Given the description of an element on the screen output the (x, y) to click on. 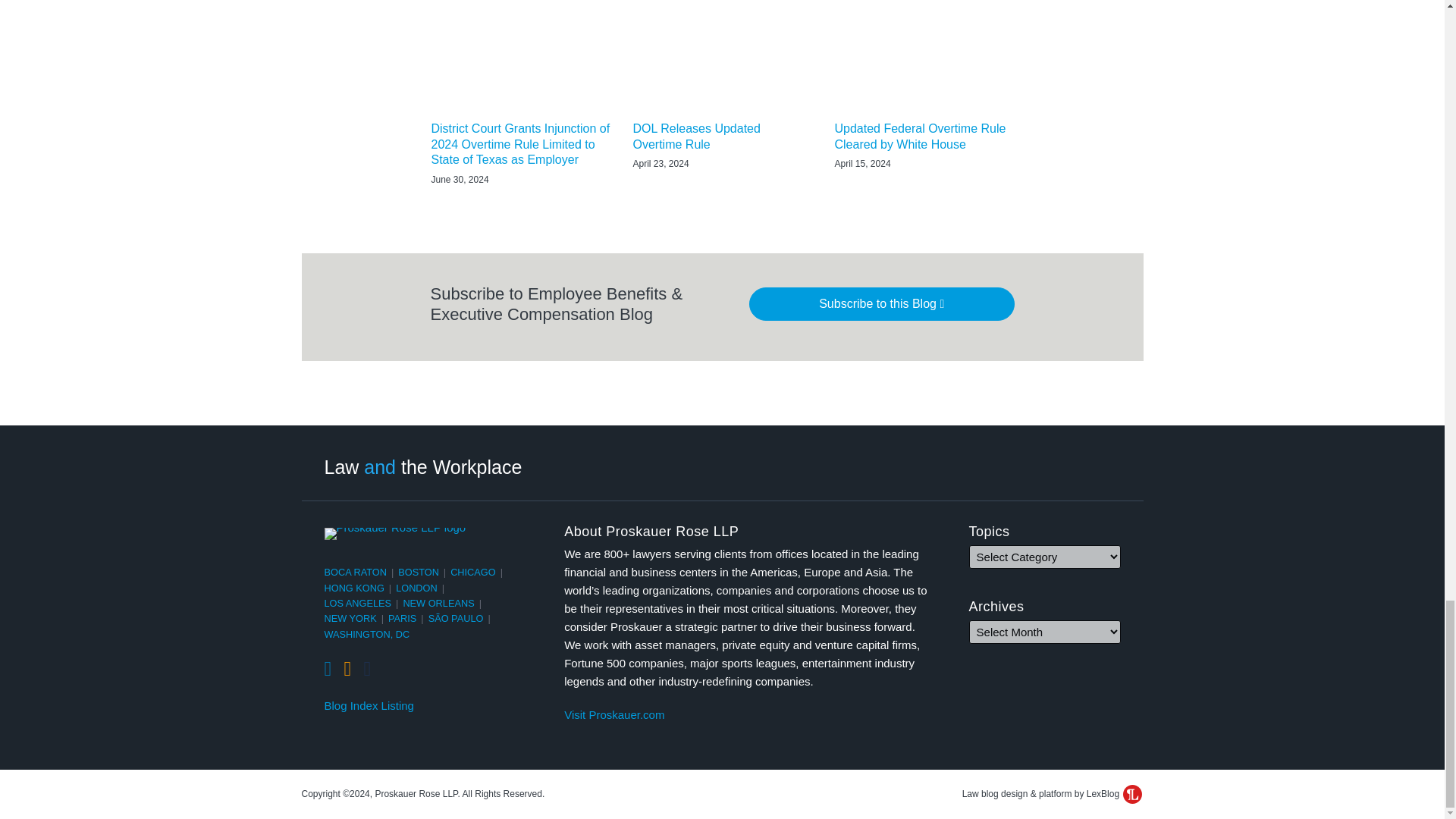
Updated Federal Overtime Rule Cleared by White House (923, 137)
DOL Releases Updated Overtime Rule (720, 137)
LexBlog Logo (1131, 793)
